Given the description of an element on the screen output the (x, y) to click on. 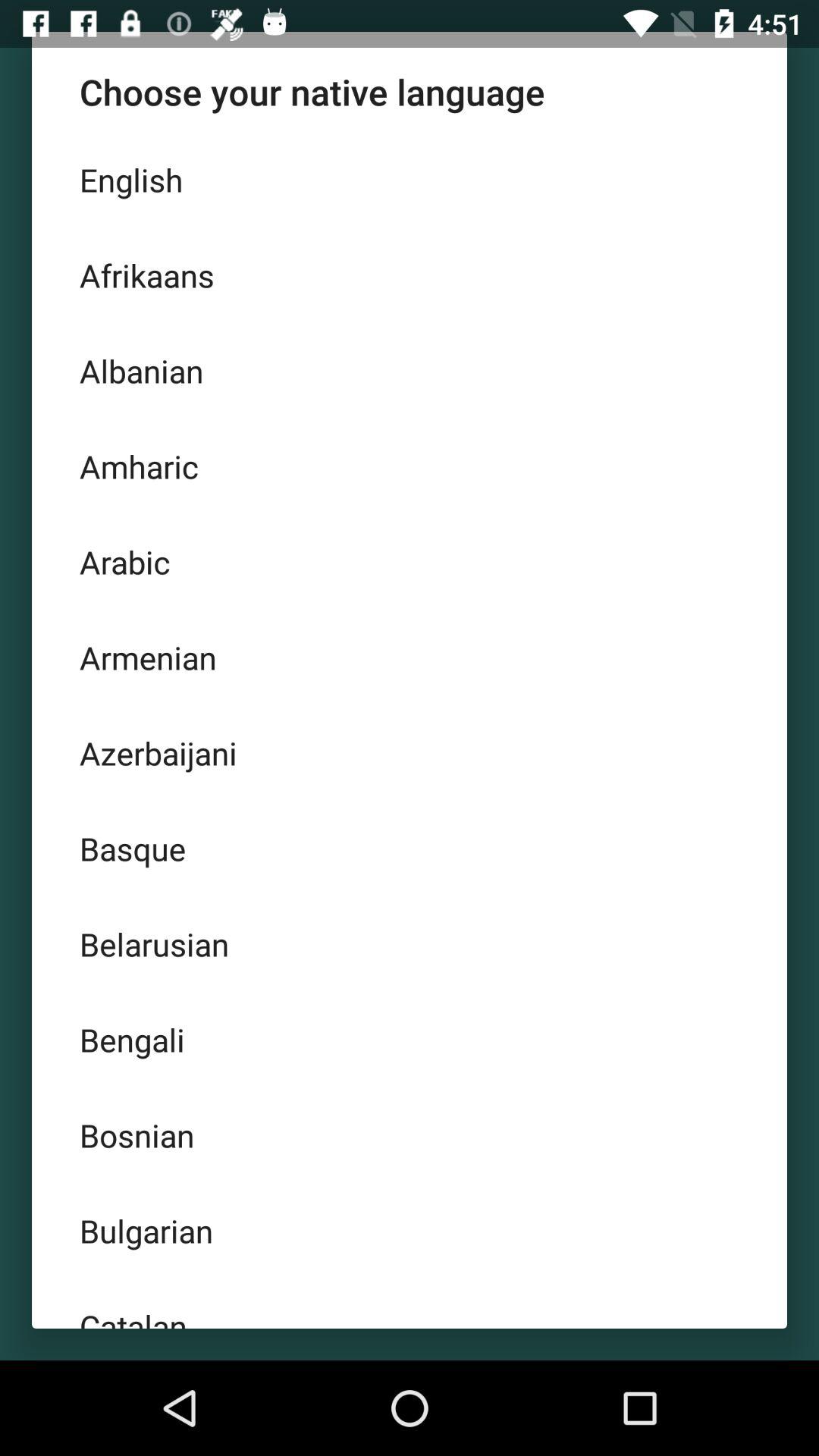
click the bengali (409, 1039)
